Given the description of an element on the screen output the (x, y) to click on. 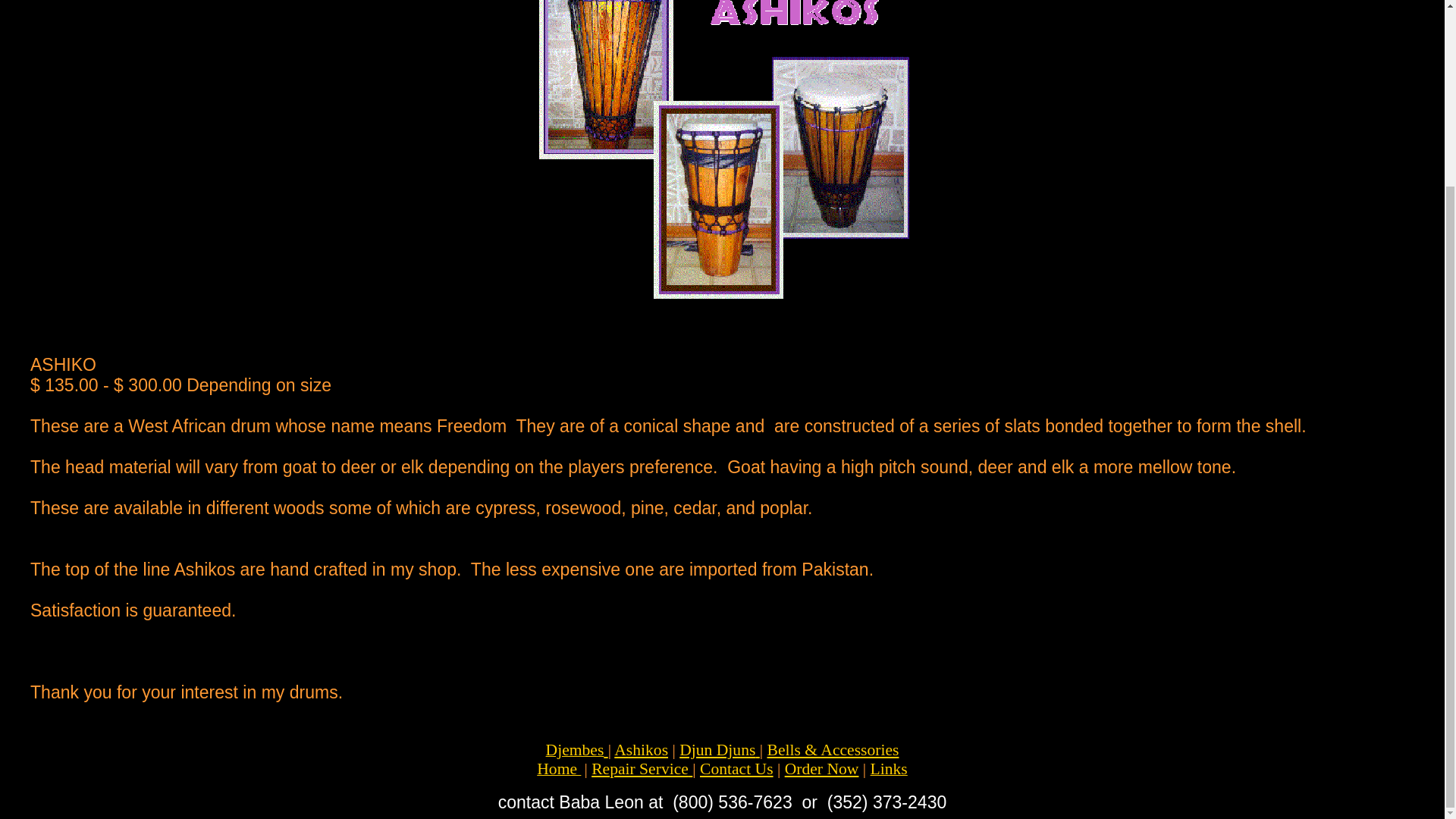
Ashikos (641, 750)
Djun Djuns (717, 750)
Home (558, 769)
Bells and Accessories (833, 750)
Repair Service (639, 769)
Djun Djuns (717, 750)
Djembes (575, 750)
Order Now (821, 769)
Links (888, 769)
Contact Us (736, 769)
